Given the description of an element on the screen output the (x, y) to click on. 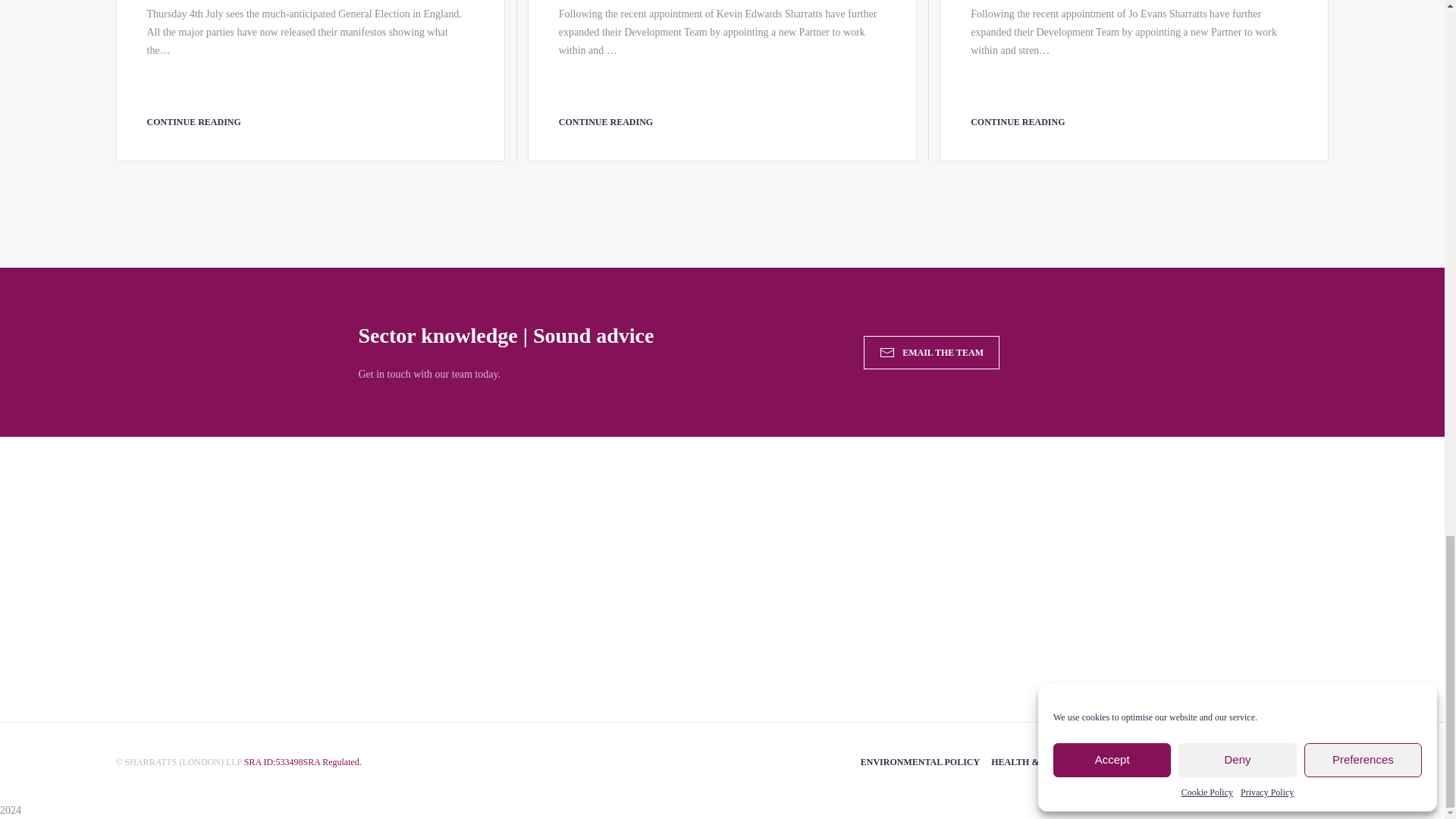
EMAIL THE TEAM (930, 352)
